Given the description of an element on the screen output the (x, y) to click on. 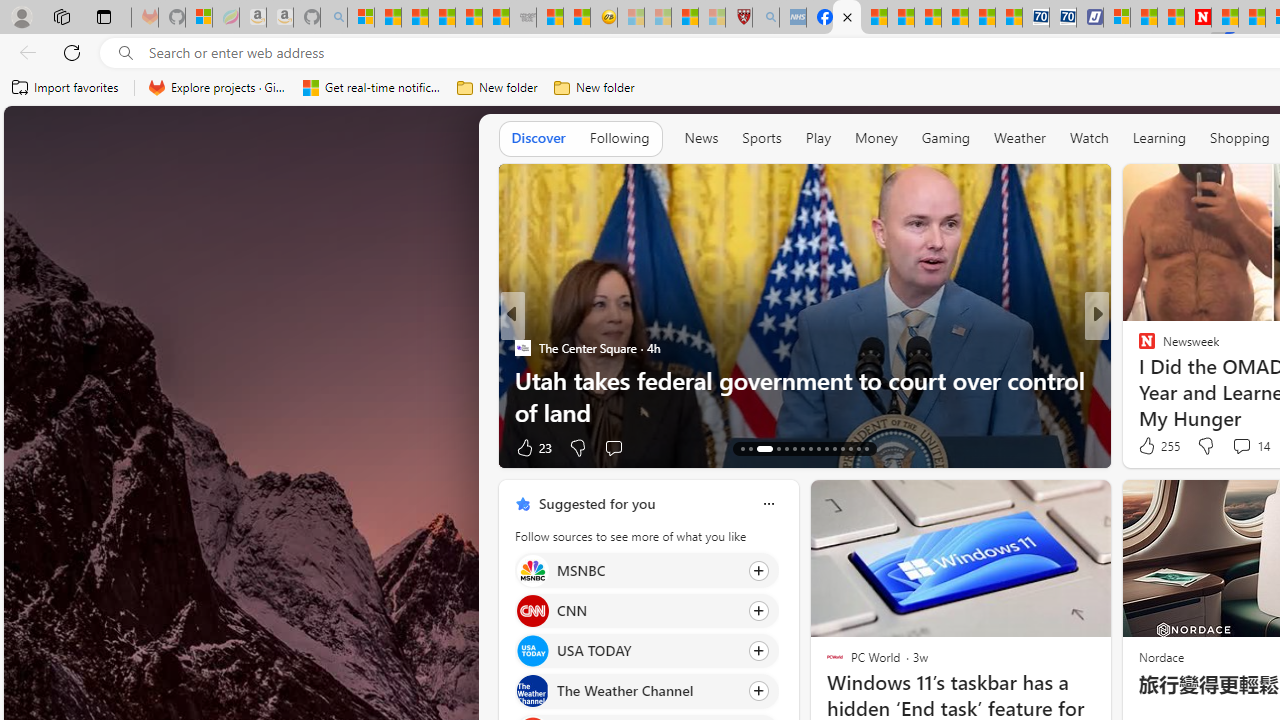
save70.com (1161, 380)
Click to follow source USA TODAY (646, 651)
268 Like (1151, 447)
Suggested for you (596, 503)
12 Popular Science Lies that Must be Corrected - Sleeping (711, 17)
AutomationID: tab-72 (801, 448)
